Given the description of an element on the screen output the (x, y) to click on. 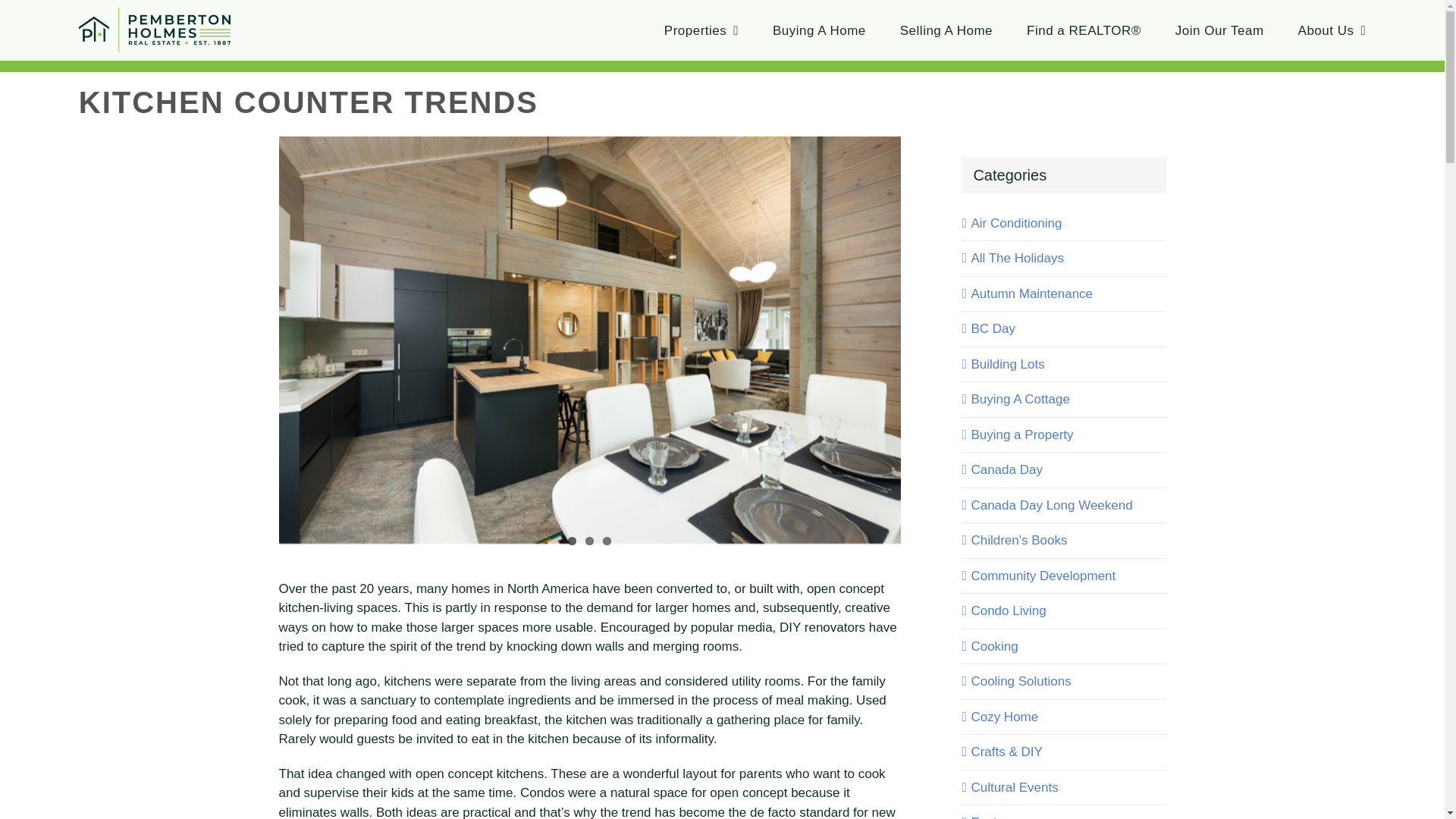
3 (606, 541)
Join Our Team (1218, 30)
1 (571, 541)
2 (589, 541)
About Us (1332, 30)
Selling A Home (945, 30)
Properties (700, 30)
Buying A Home (819, 30)
